Given the description of an element on the screen output the (x, y) to click on. 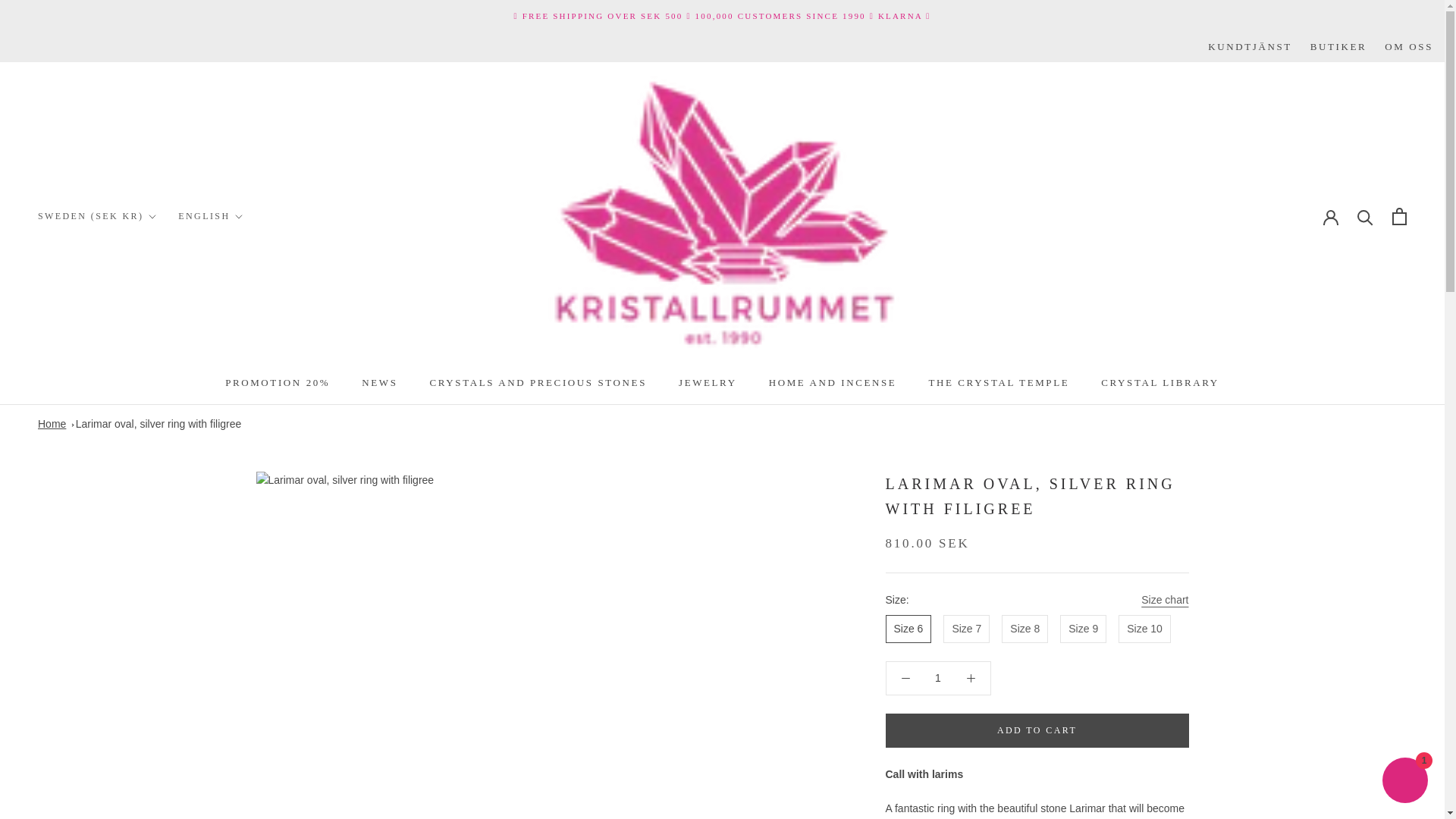
Shopify online store chat (1404, 781)
1 (938, 677)
